Given the description of an element on the screen output the (x, y) to click on. 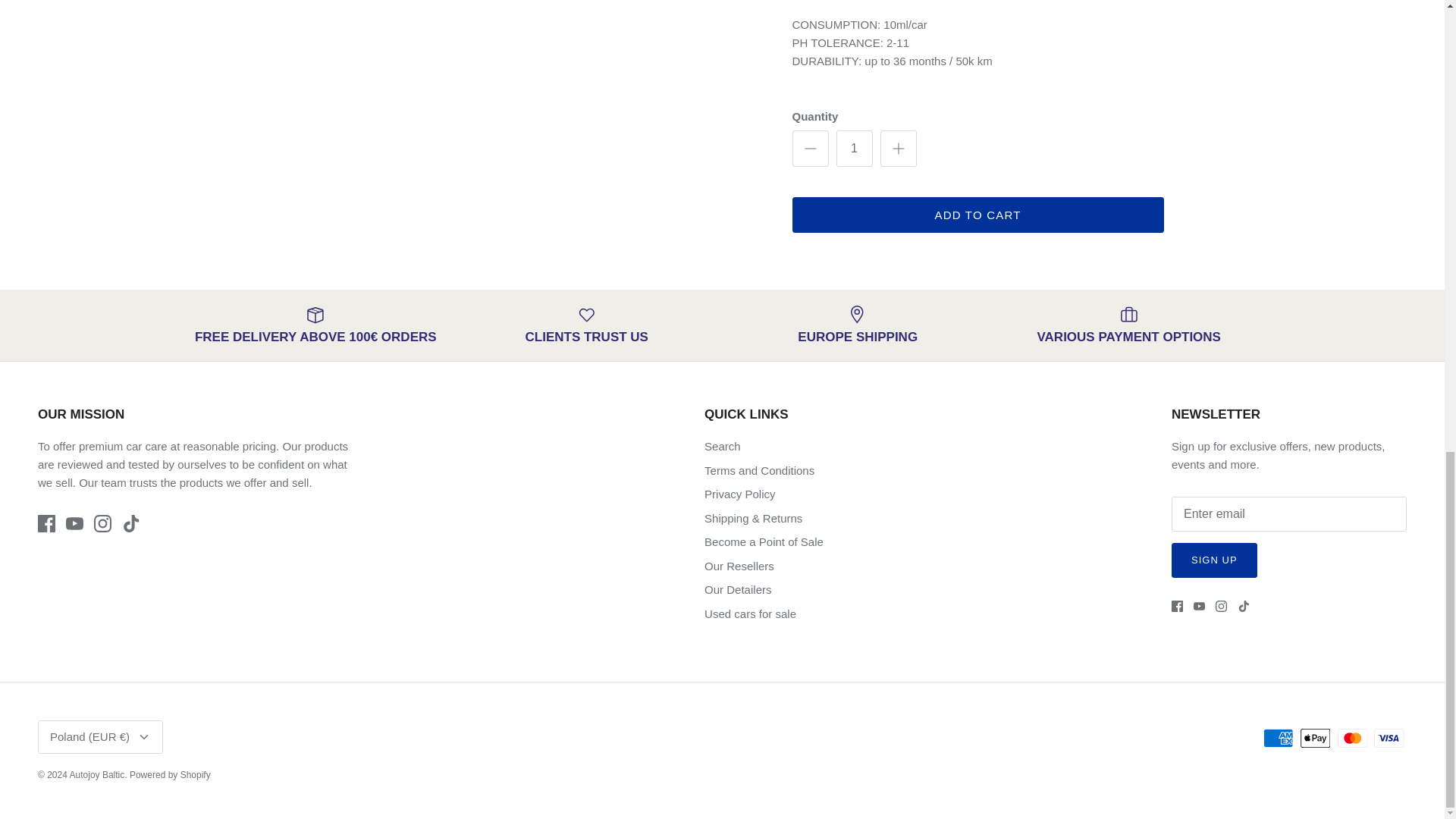
Youtube (73, 523)
Minus (809, 148)
Instagram (103, 523)
Facebook (1177, 605)
Facebook (46, 523)
1 (853, 148)
Plus (897, 148)
